Given the description of an element on the screen output the (x, y) to click on. 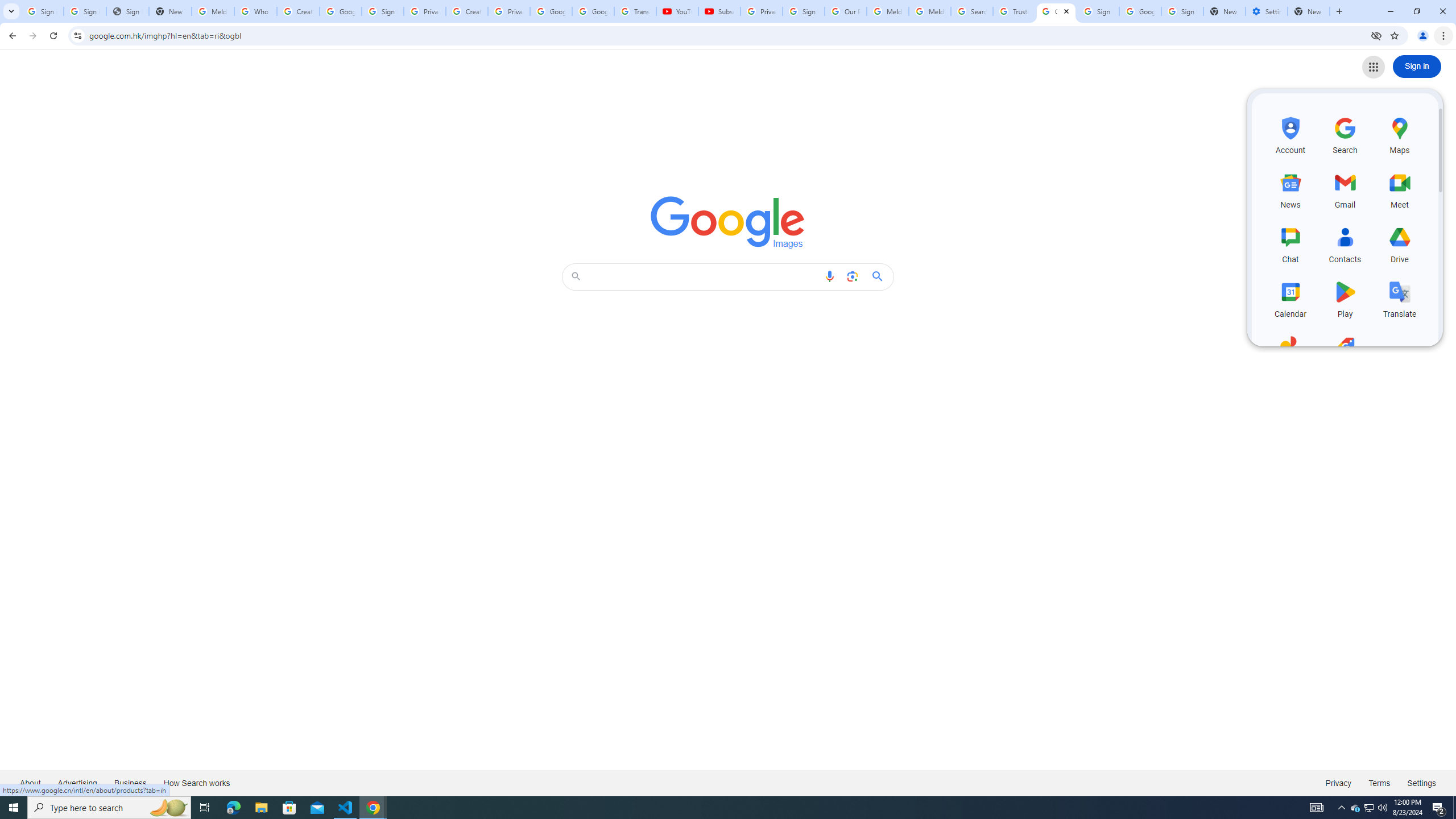
Google Account (592, 11)
YouTube (676, 11)
Search by image (852, 276)
Sign in - Google Accounts (1097, 11)
Meet, row 2 of 5 and column 3 of 3 in the first section (1399, 188)
Sign In - USA TODAY (127, 11)
New Tab (1308, 11)
Drive, row 3 of 5 and column 3 of 3 in the first section (1399, 242)
About (30, 782)
Translate, row 4 of 5 and column 3 of 3 in the first section (1399, 297)
Sign in - Google Accounts (1182, 11)
